Given the description of an element on the screen output the (x, y) to click on. 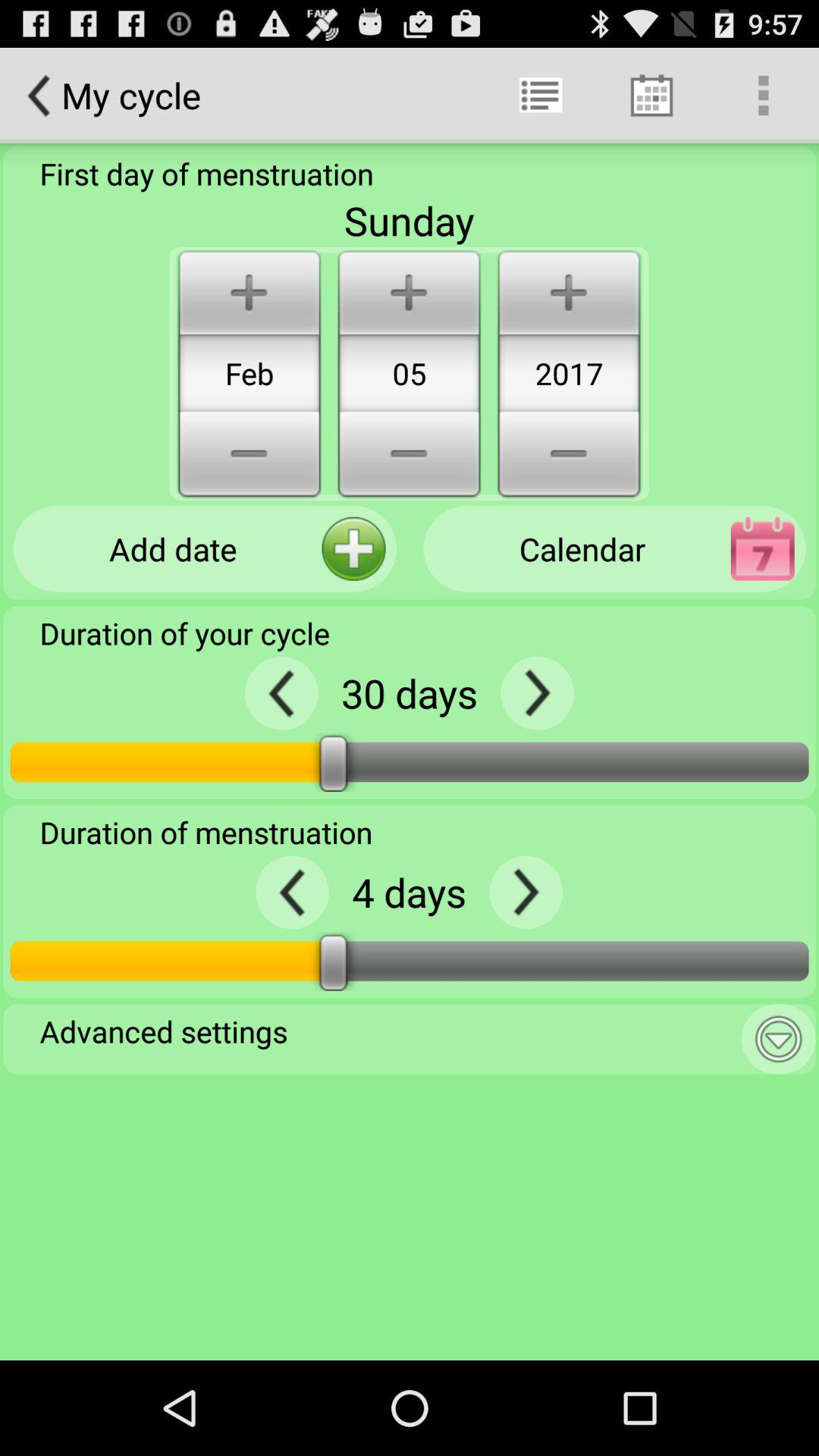
go to back (281, 693)
